Given the description of an element on the screen output the (x, y) to click on. 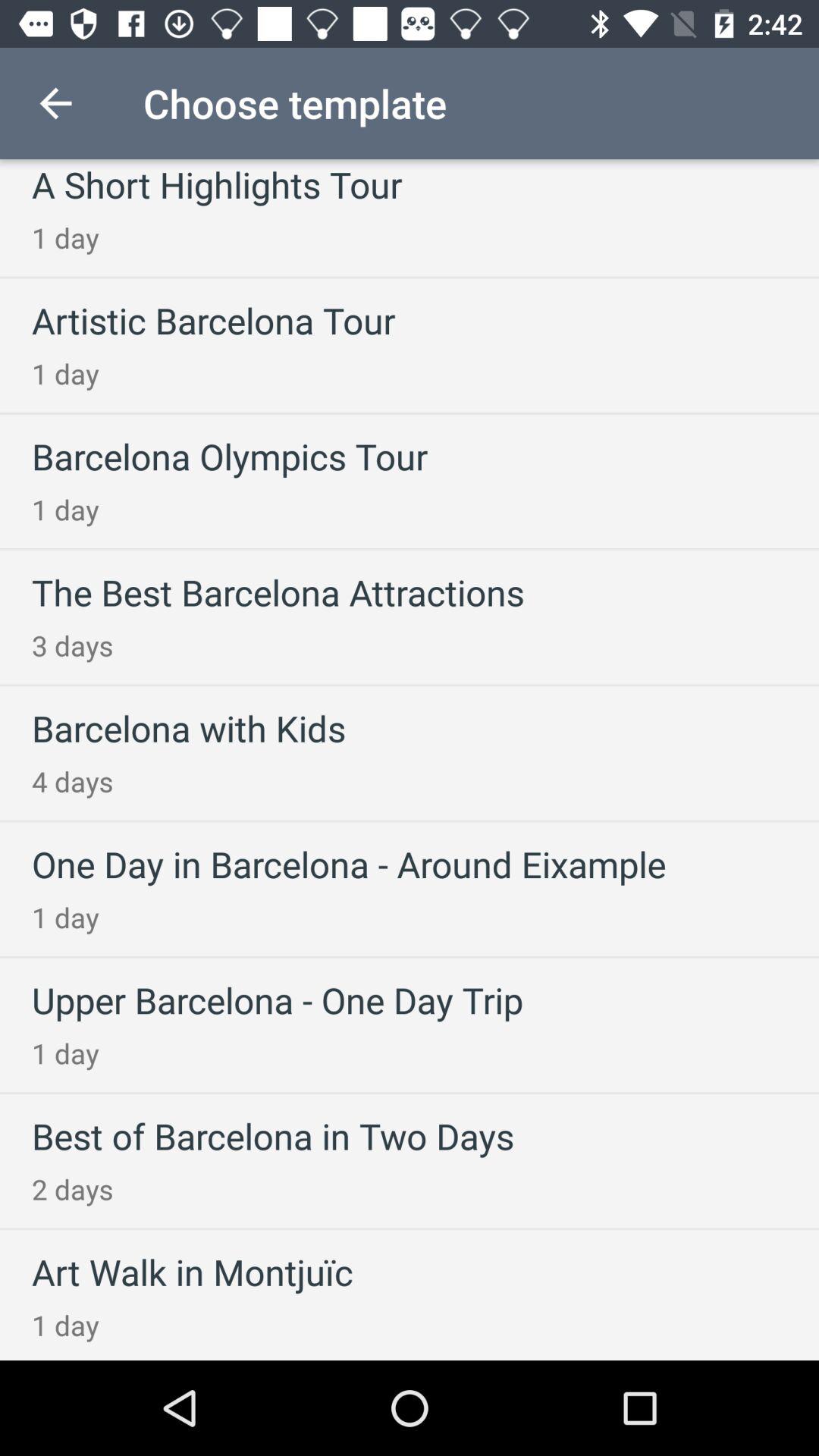
click item above the a short highlights item (55, 103)
